Given the description of an element on the screen output the (x, y) to click on. 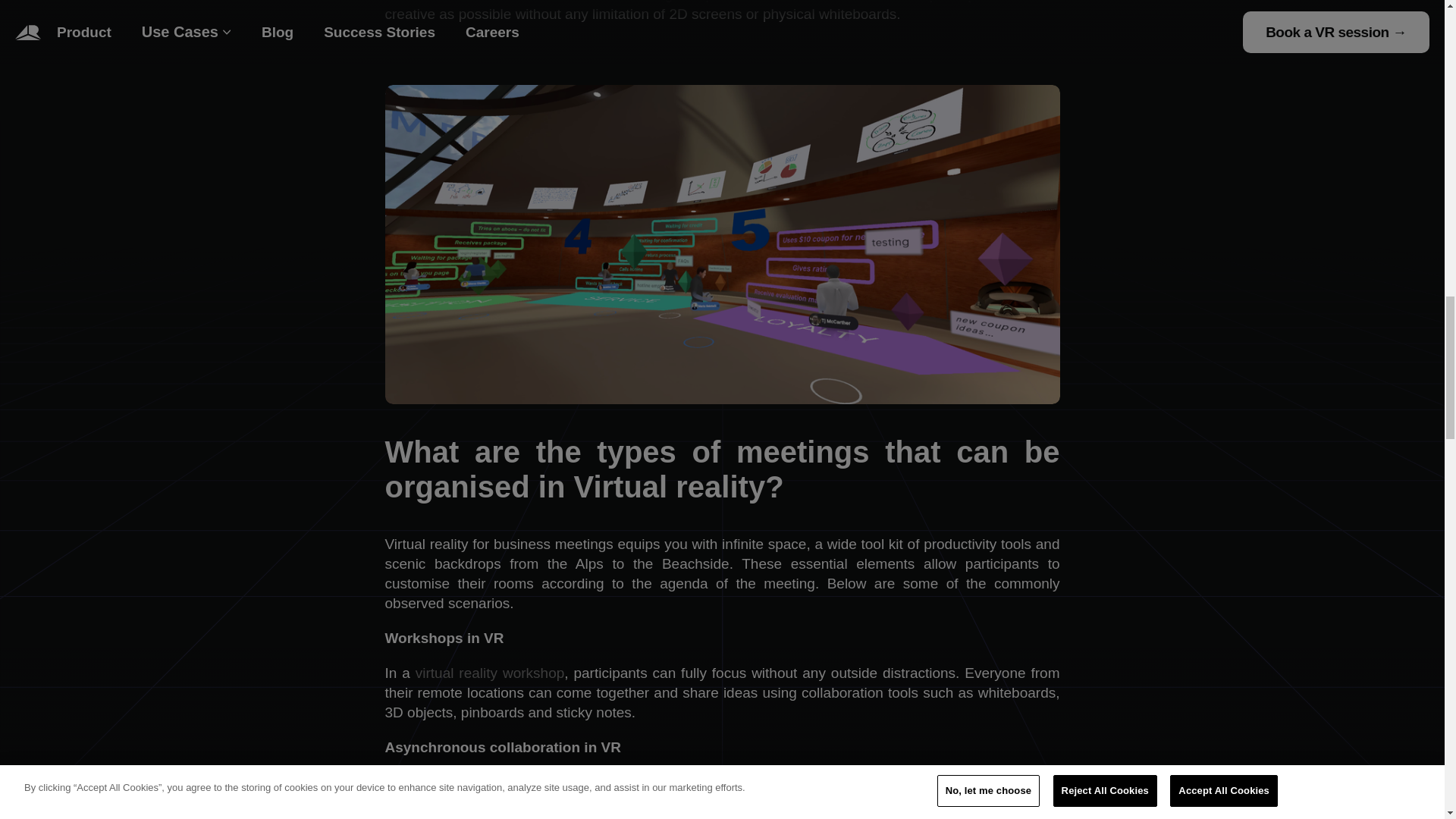
virtual reality workshop (489, 672)
